Given the description of an element on the screen output the (x, y) to click on. 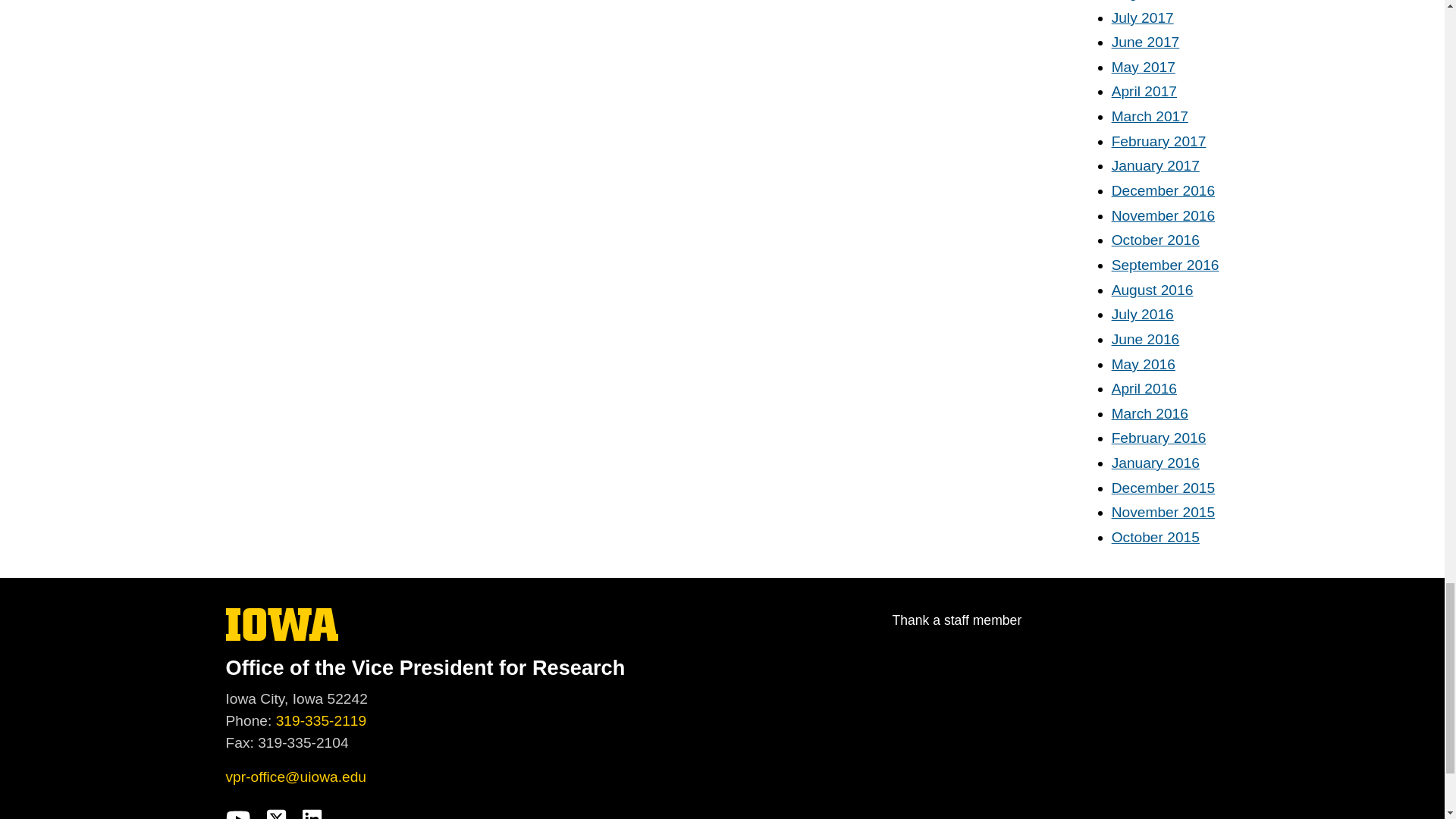
University of Iowa (282, 624)
OVPR main office email (295, 776)
